Given the description of an element on the screen output the (x, y) to click on. 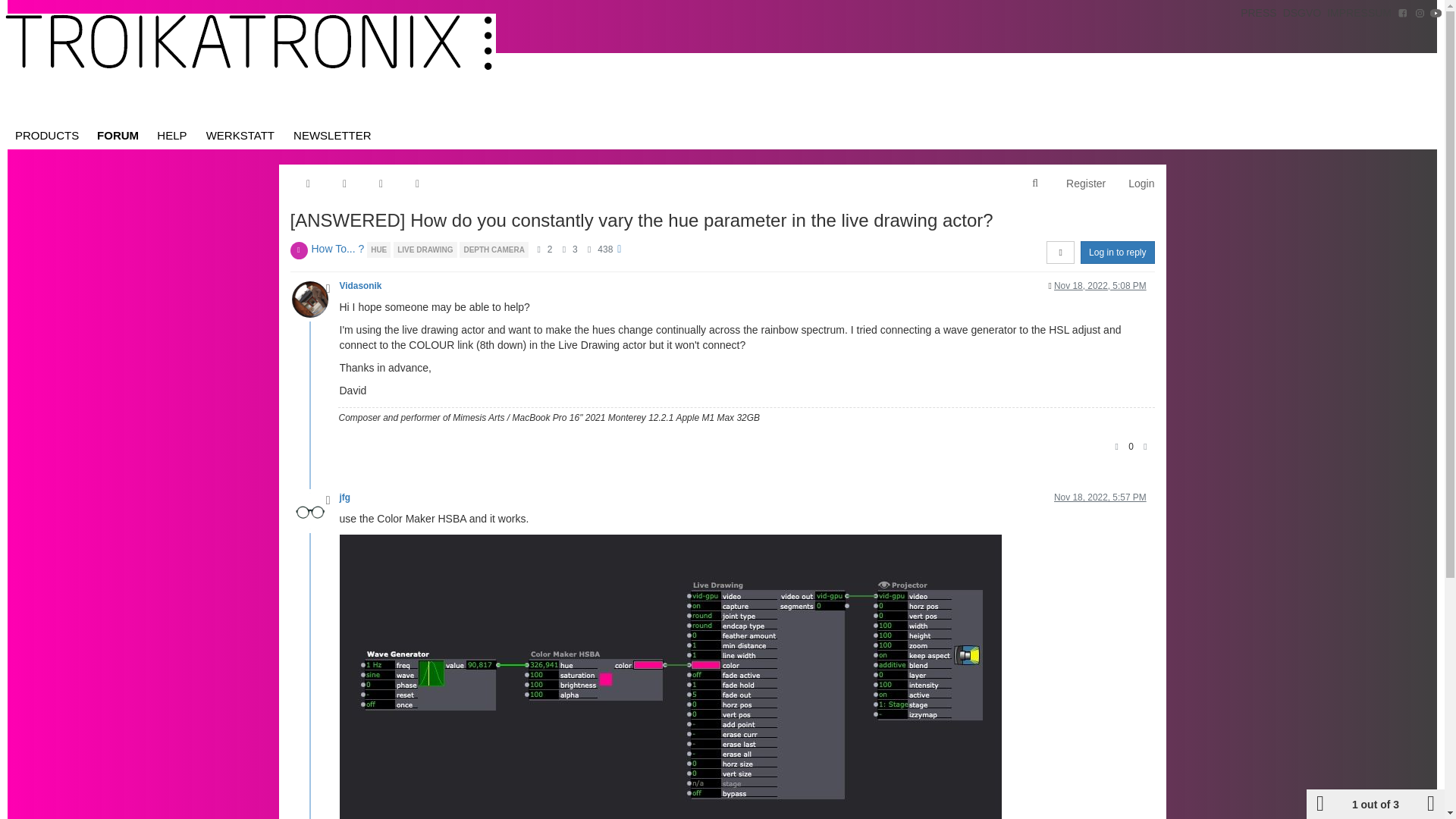
HELP (172, 135)
Login (1141, 183)
NEWSLETTER (331, 135)
Register (1085, 183)
PRODUCTS (46, 135)
FORUM (117, 135)
PRESS (1258, 12)
WERKSTATT (240, 135)
Posters (538, 248)
IMPRESSUM (1358, 12)
